Given the description of an element on the screen output the (x, y) to click on. 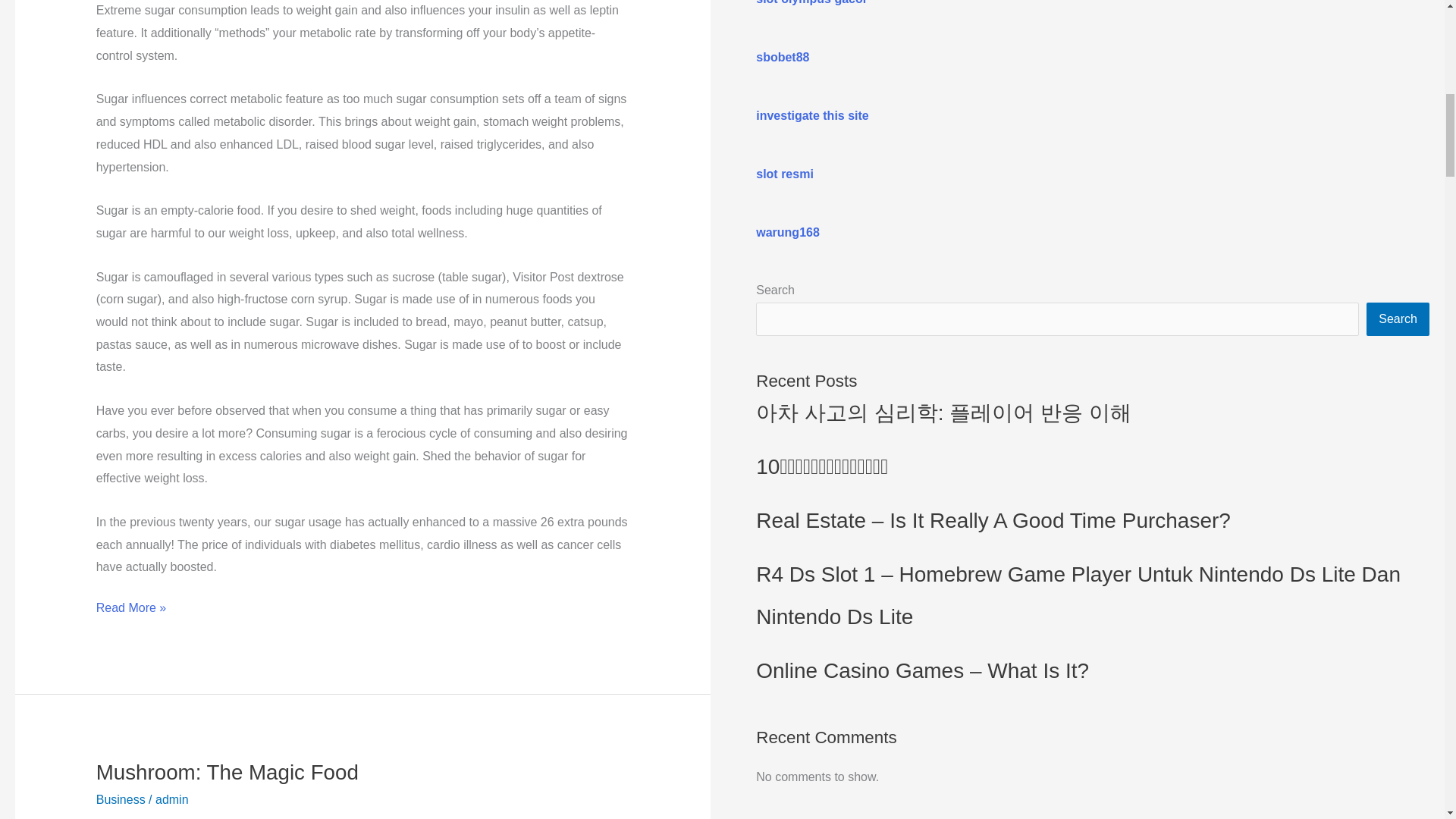
View all posts by admin (172, 799)
Mushroom: The Magic Food (227, 771)
admin (172, 799)
Business (120, 799)
